Given the description of an element on the screen output the (x, y) to click on. 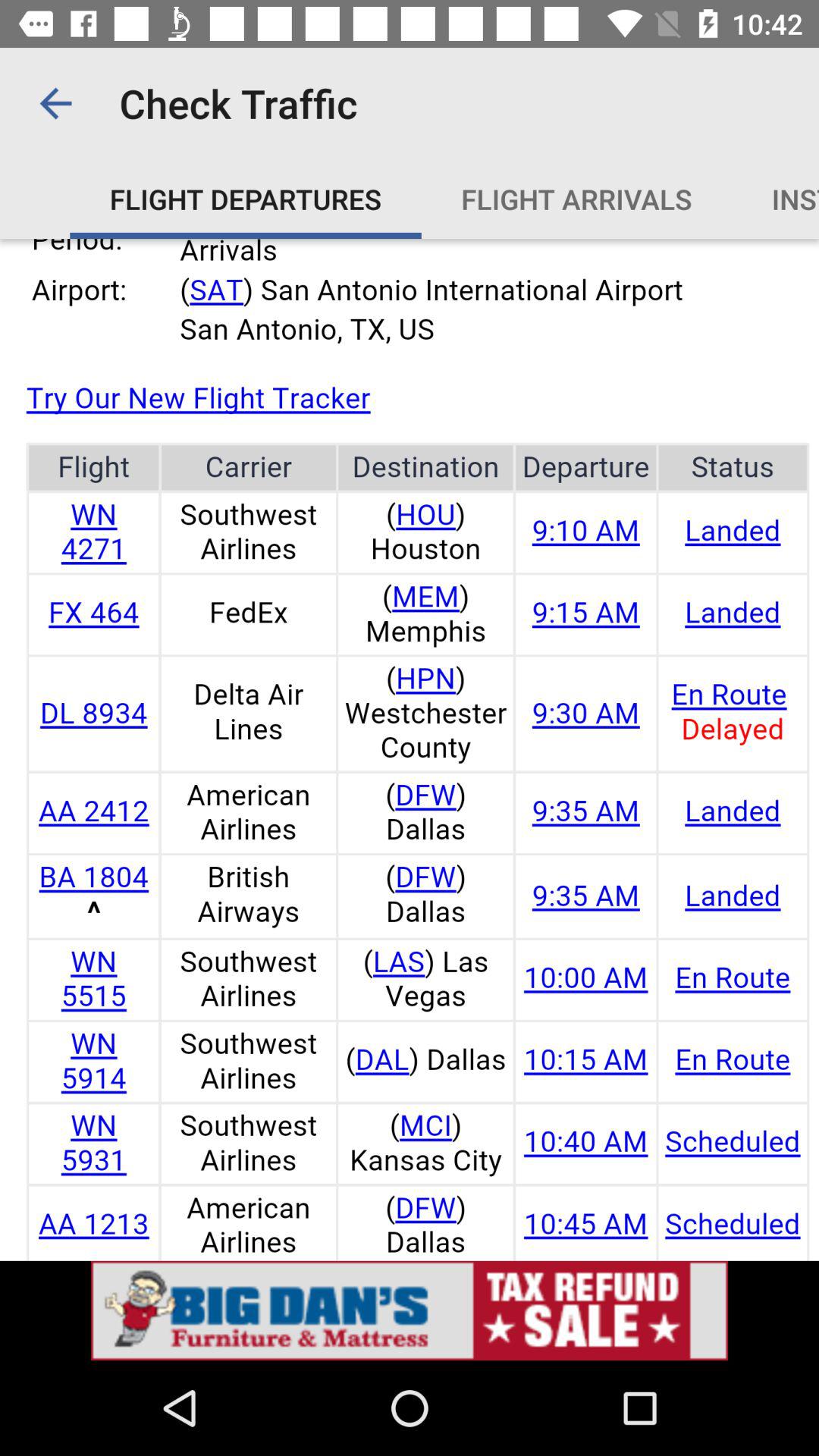
advertising (409, 1310)
